Given the description of an element on the screen output the (x, y) to click on. 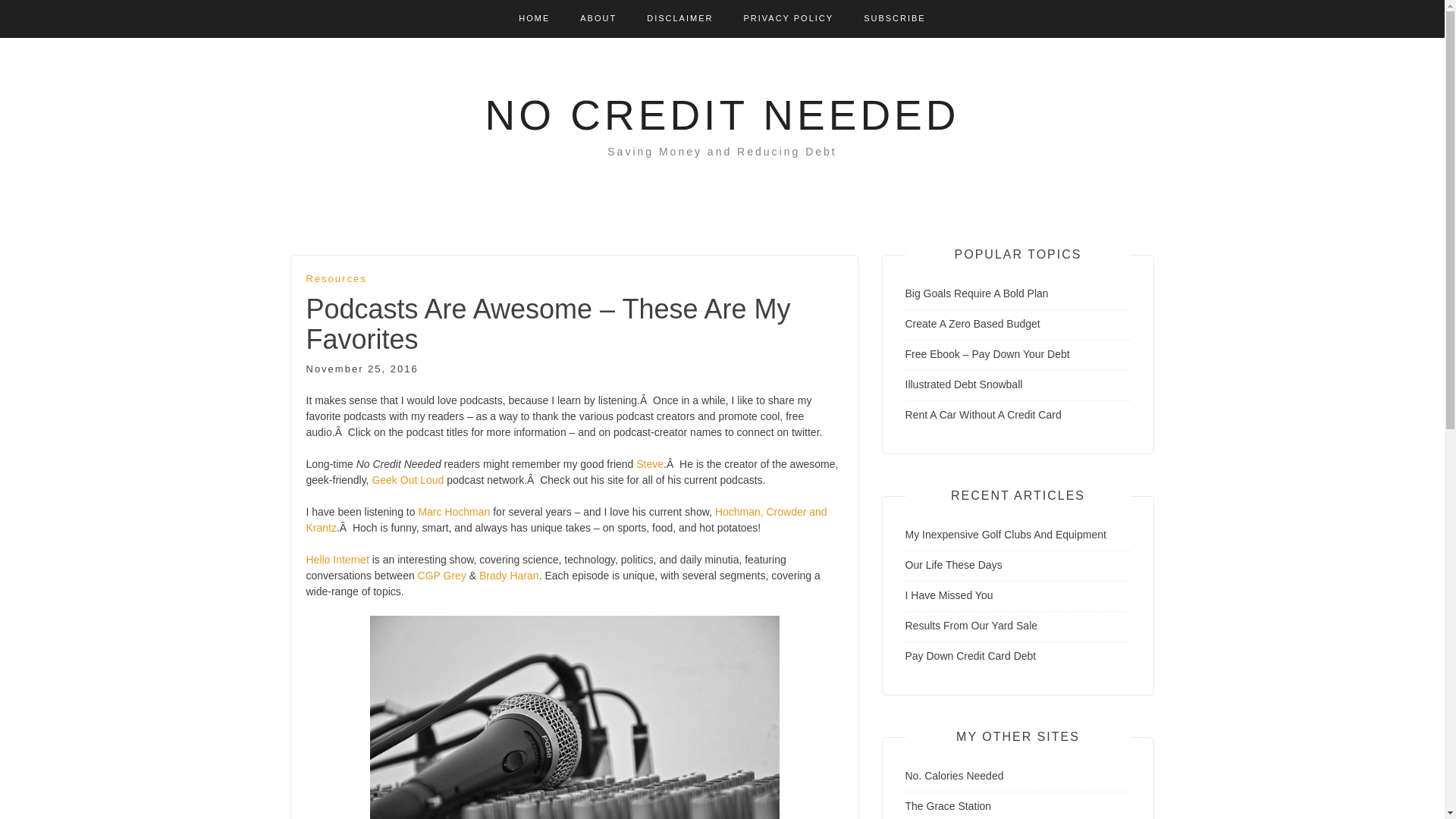
Geek Out Loud (407, 480)
Hochman, Crowder and Krantz (566, 519)
Hello Internet (337, 559)
ABOUT (597, 18)
Marc Hochman (453, 511)
Pay Down Credit Card Debt (970, 655)
CGP Grey (441, 575)
